Given the description of an element on the screen output the (x, y) to click on. 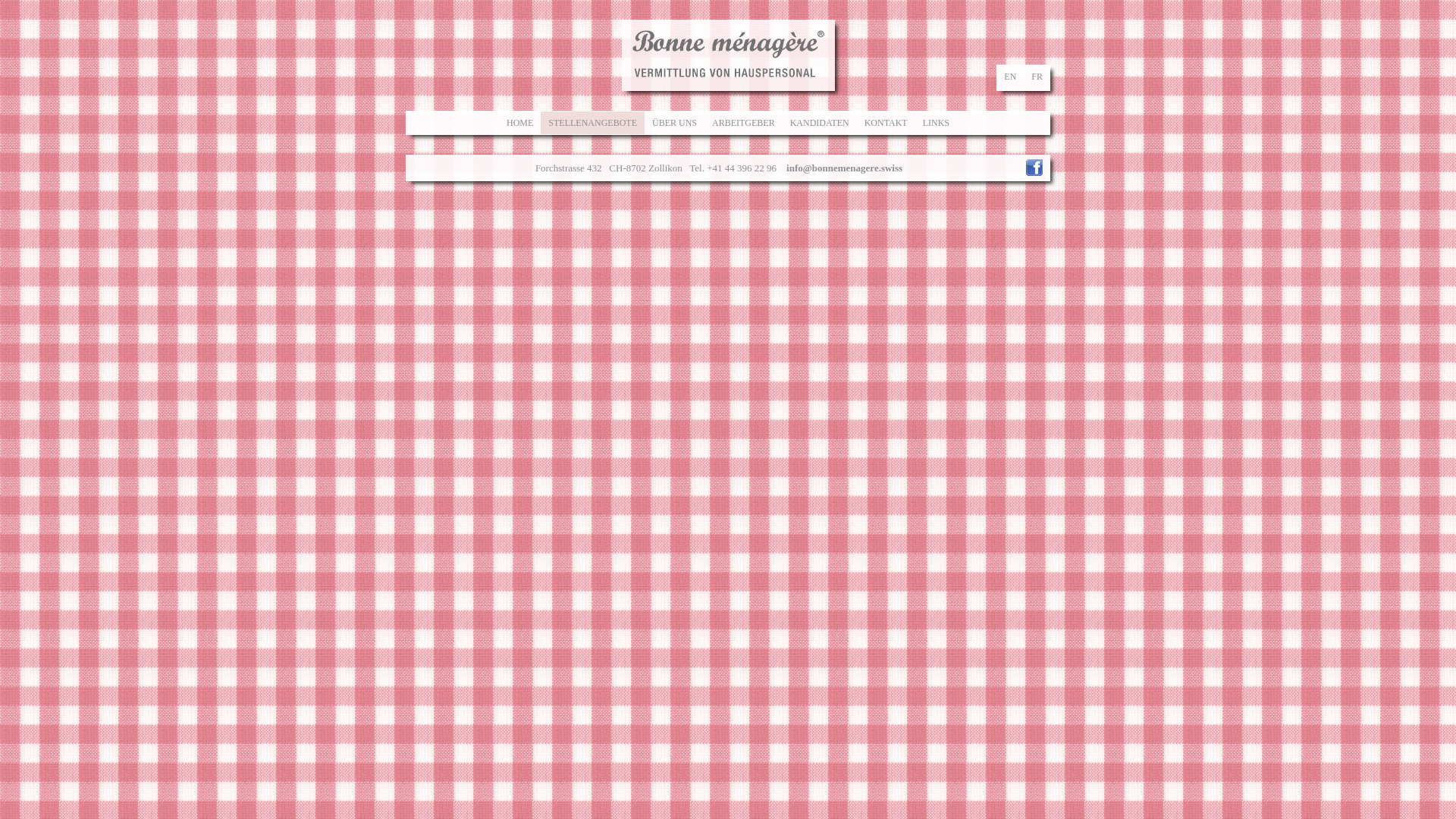
LINKS Element type: text (936, 122)
KONTAKT Element type: text (885, 122)
EN Element type: text (1009, 76)
info@bonnemenagere.swiss Element type: text (844, 167)
KANDIDATEN Element type: text (819, 122)
FR Element type: text (1036, 76)
STELLENANGEBOTE Element type: text (592, 122)
ARBEITGEBER Element type: text (743, 122)
HOME Element type: text (519, 122)
